Given the description of an element on the screen output the (x, y) to click on. 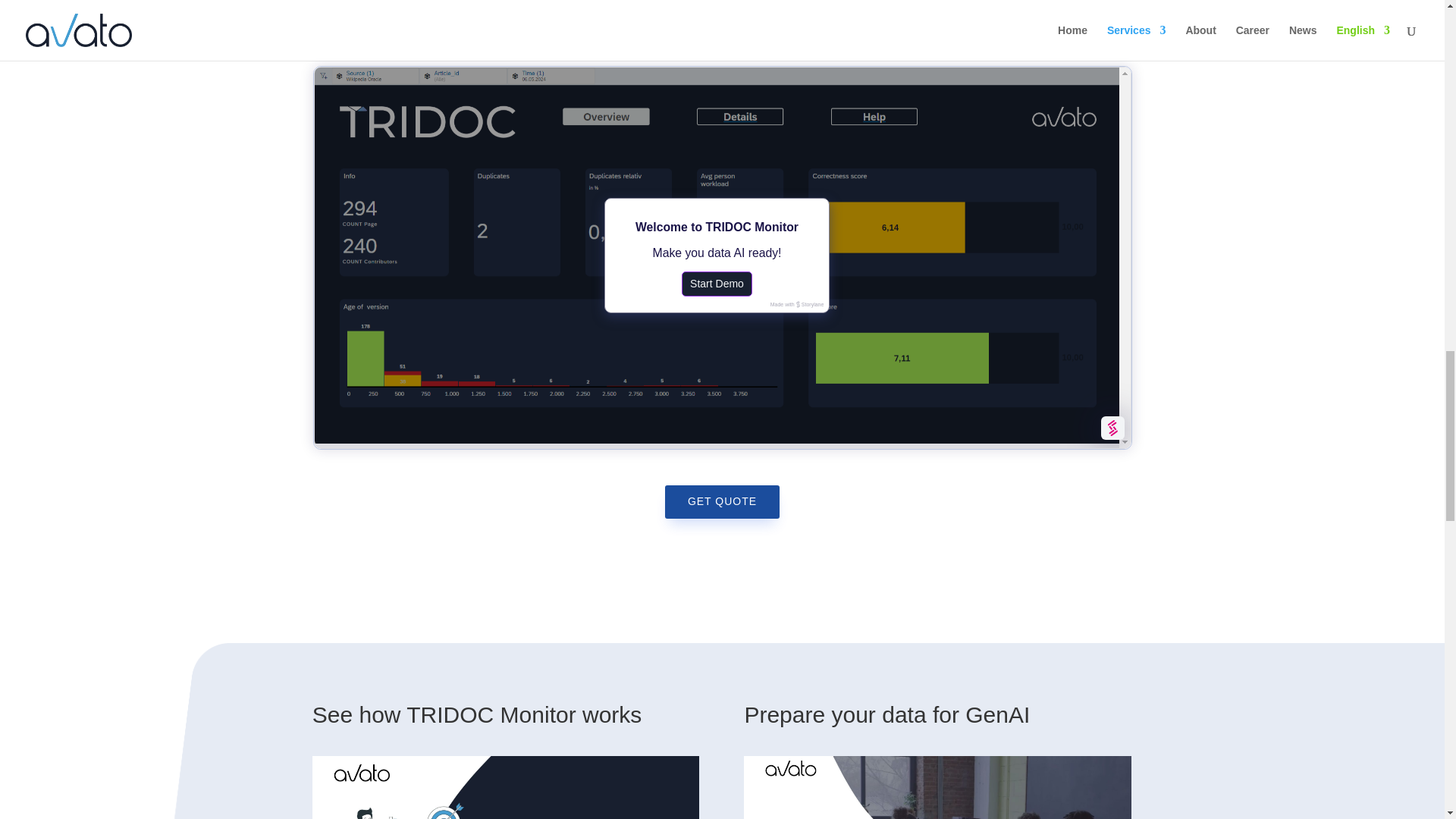
GET QUOTE (721, 501)
